Given the description of an element on the screen output the (x, y) to click on. 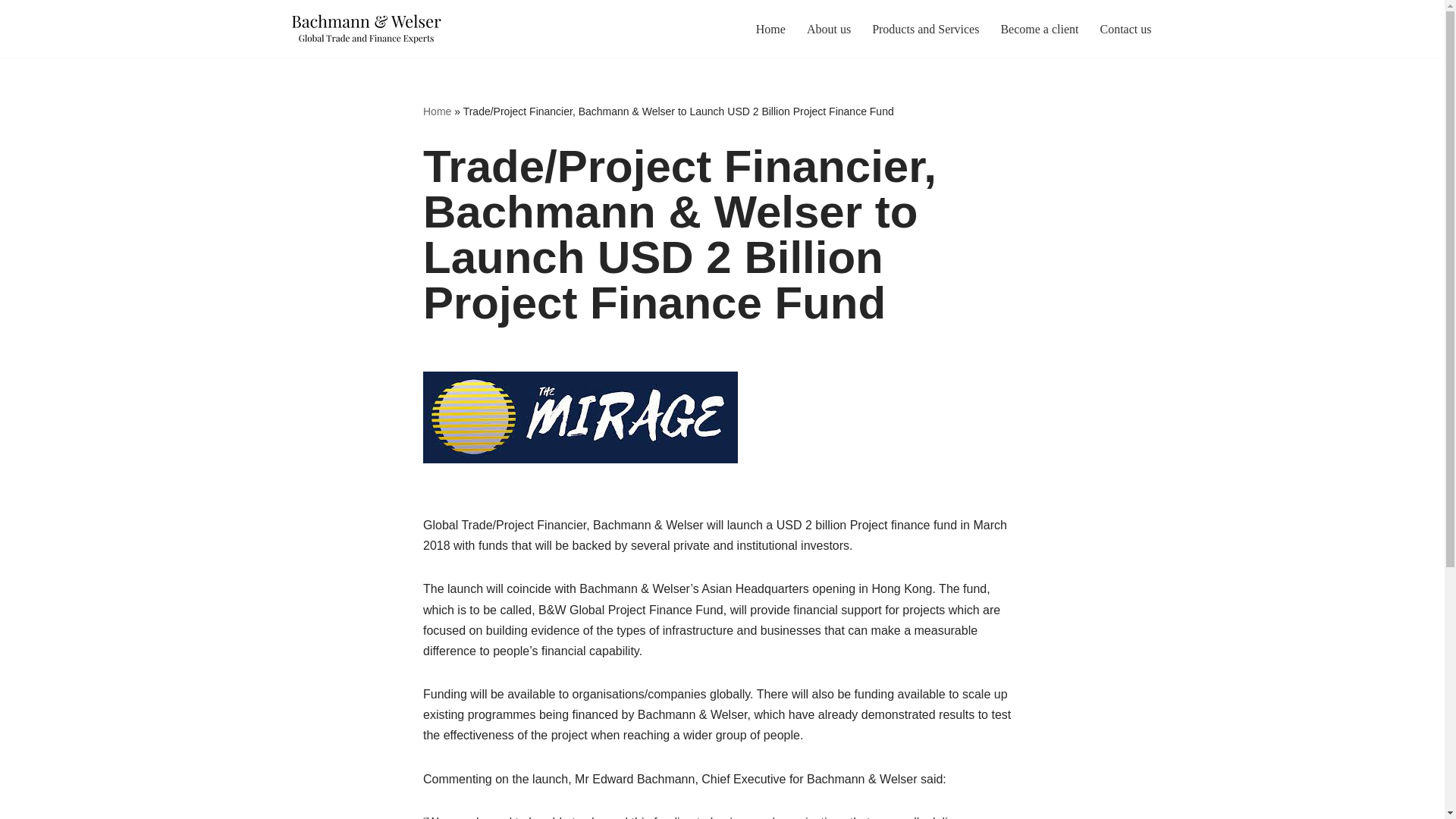
Home (770, 28)
Skip to content (11, 31)
Products and Services (925, 28)
Contact us (1125, 28)
About us (828, 28)
Home (437, 111)
Become a client (1039, 28)
